Given the description of an element on the screen output the (x, y) to click on. 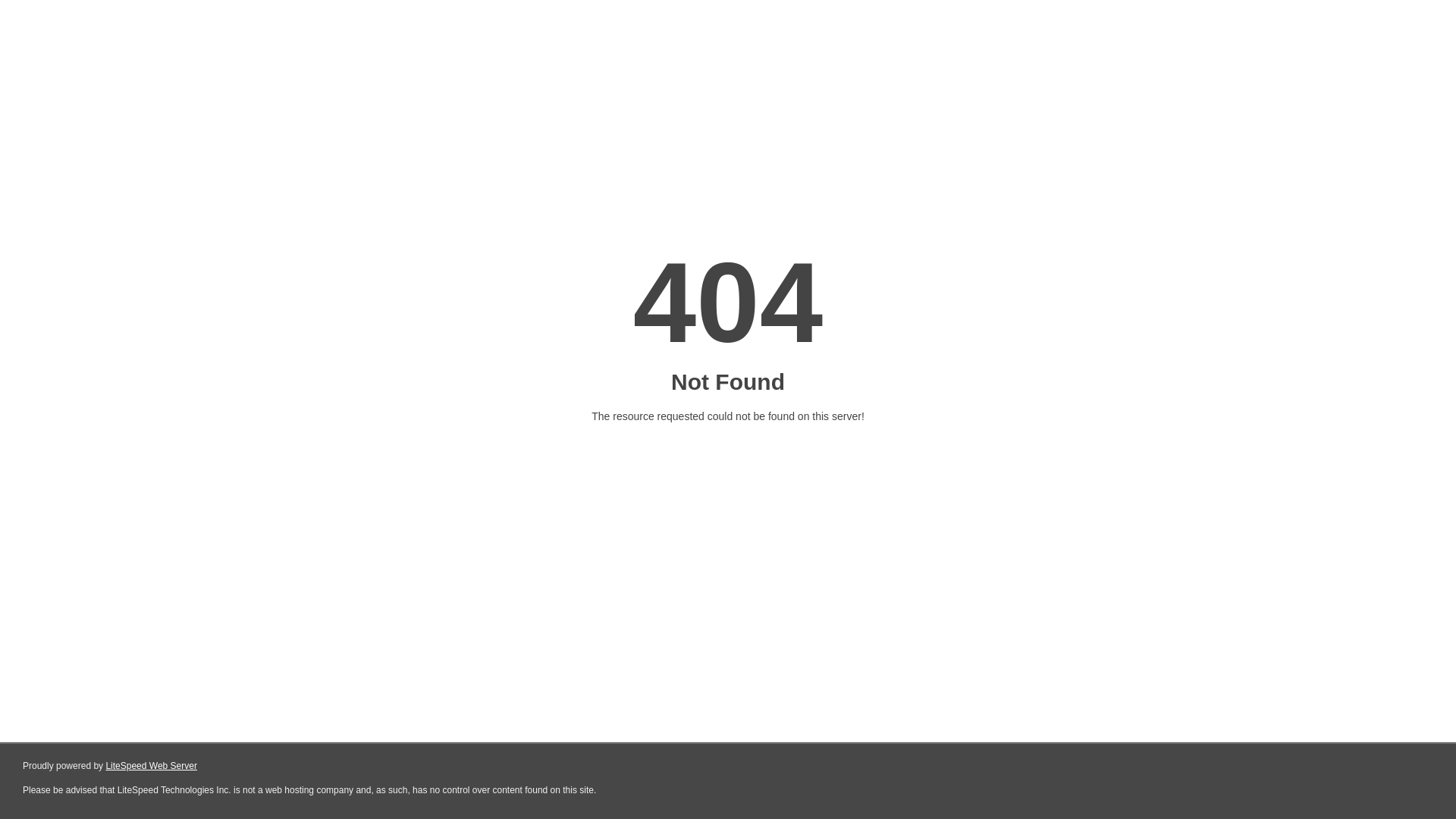
LiteSpeed Web Server Element type: text (151, 765)
